Given the description of an element on the screen output the (x, y) to click on. 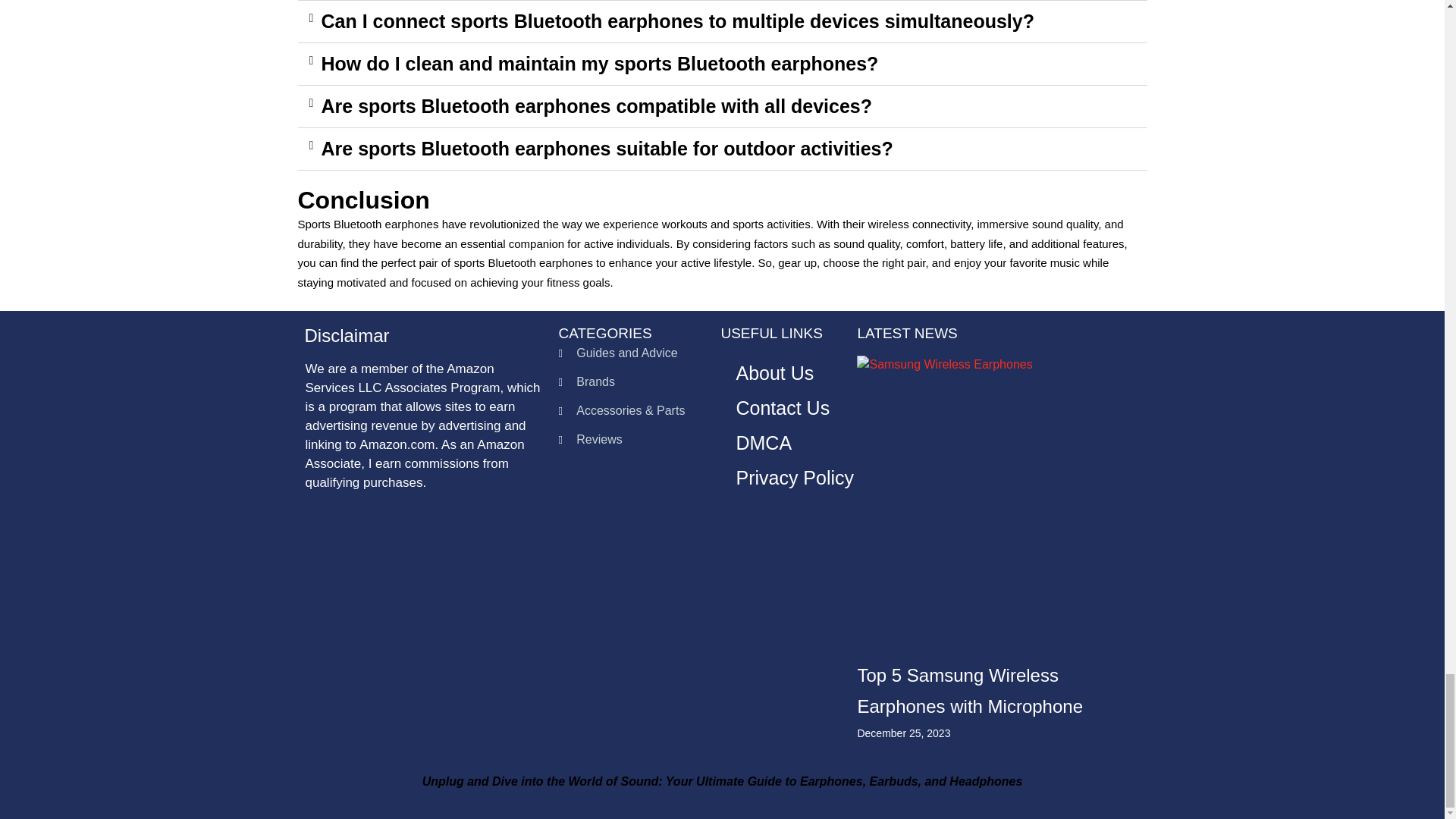
DMCA (763, 442)
Are sports Bluetooth earphones compatible with all devices? (596, 106)
How do I clean and maintain my sports Bluetooth earphones? (600, 63)
Contact Us (782, 407)
Privacy Policy (794, 477)
About Us (774, 372)
